Given the description of an element on the screen output the (x, y) to click on. 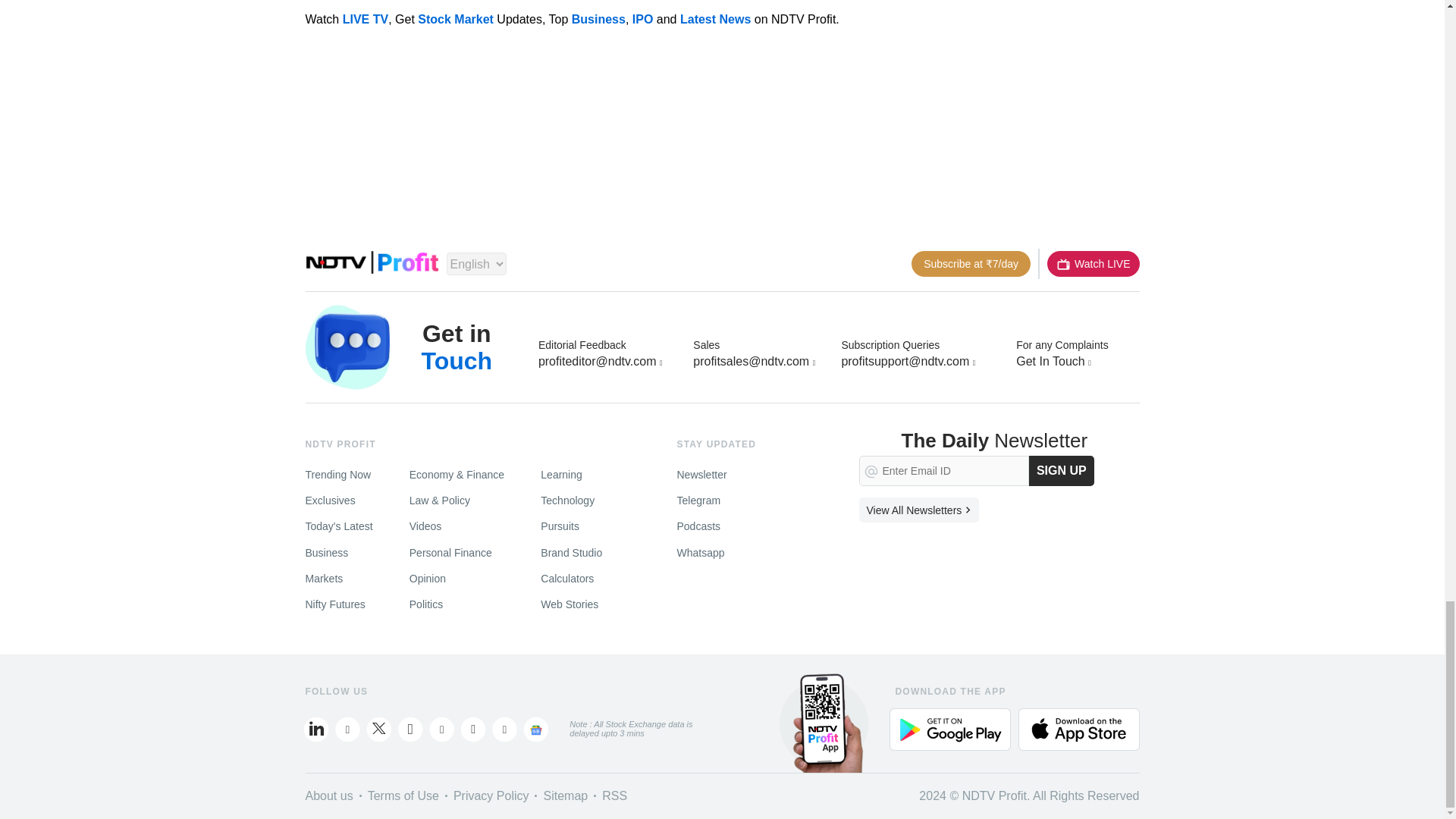
Live TV (1092, 263)
